Given the description of an element on the screen output the (x, y) to click on. 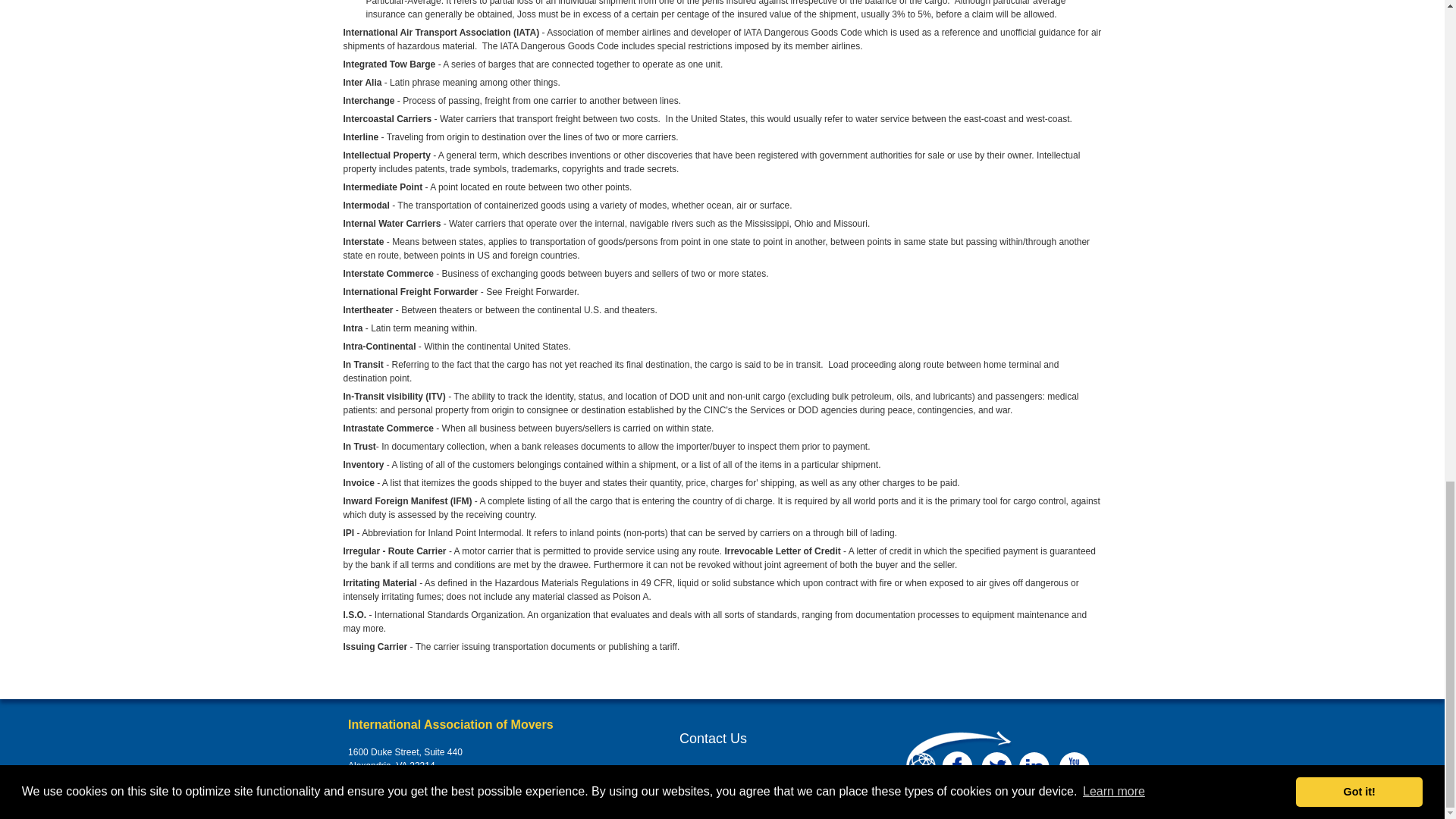
IAM on YouTube (1073, 768)
IAM on Twitter (996, 768)
IAM on LinkedIn (1034, 768)
IAM on Facebook (957, 768)
IAM (957, 757)
